Given the description of an element on the screen output the (x, y) to click on. 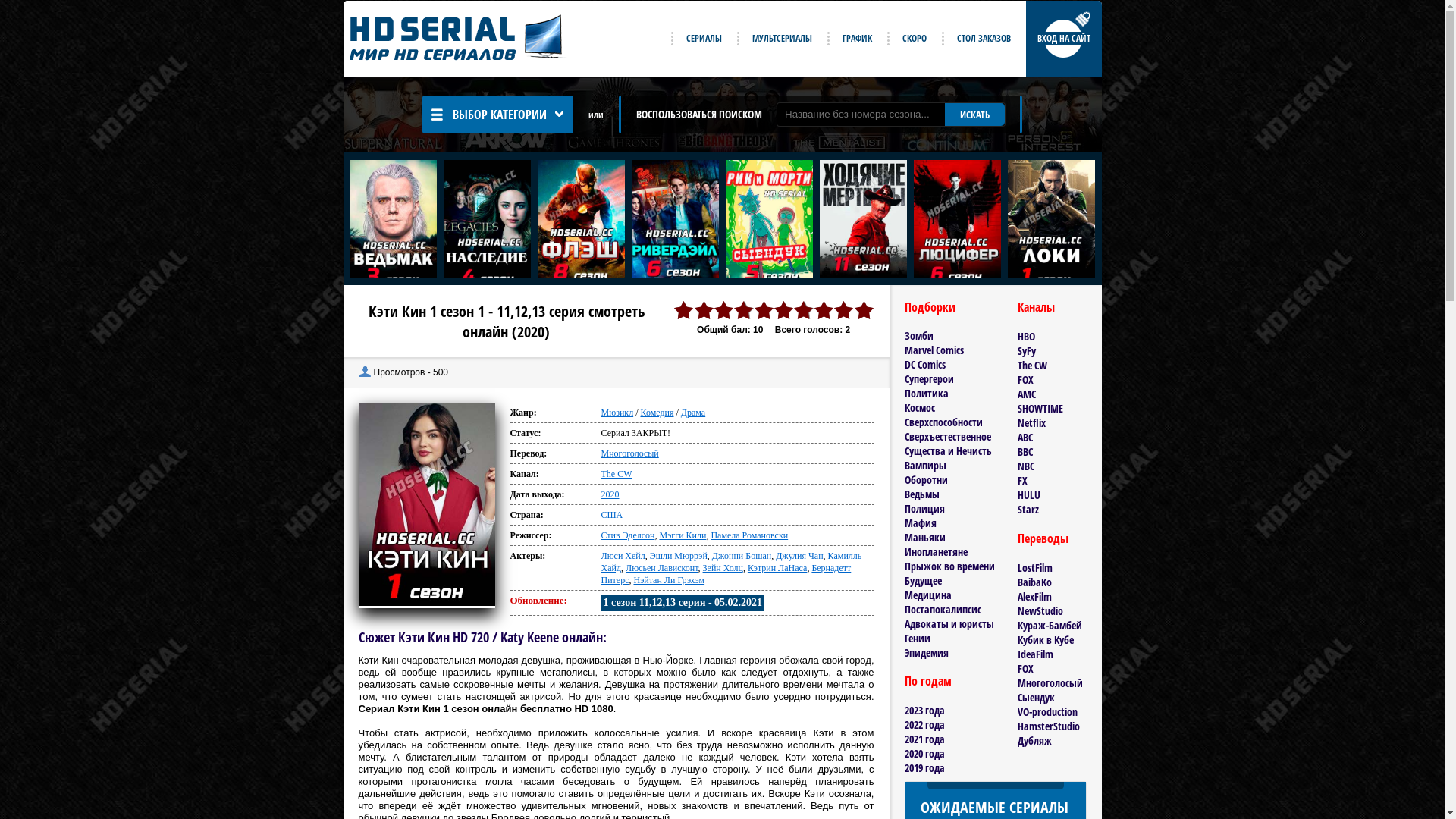
2 Element type: text (703, 310)
FOX Element type: text (1025, 668)
AlexFilm Element type: text (1034, 596)
4 Element type: text (743, 310)
LostFilm Element type: text (1034, 567)
BBC Element type: text (1024, 451)
2020 Element type: text (609, 494)
FX Element type: text (1022, 480)
6 Element type: text (783, 310)
SyFy Element type: text (1026, 350)
10 Element type: text (863, 310)
VO-production Element type: text (1047, 711)
FOX Element type: text (1025, 379)
Marvel Comics Element type: text (933, 349)
The CW Element type: text (1032, 364)
BaibaKo Element type: text (1034, 581)
5 Element type: text (763, 310)
9 Element type: text (843, 310)
SHOWTIME Element type: text (1040, 408)
ABC Element type: text (1024, 436)
NewStudio Element type: text (1040, 610)
7 Element type: text (803, 310)
HamsterStudio Element type: text (1048, 725)
Netflix Element type: text (1031, 422)
AMC Element type: text (1026, 393)
IdeaFilm Element type: text (1035, 653)
3 Element type: text (723, 310)
The CW Element type: text (615, 473)
HBO Element type: text (1026, 336)
DC Comics Element type: text (923, 364)
1 Element type: text (683, 310)
Starz Element type: text (1027, 509)
HULU Element type: text (1028, 494)
8 Element type: text (823, 310)
NBC Element type: text (1025, 465)
